Given the description of an element on the screen output the (x, y) to click on. 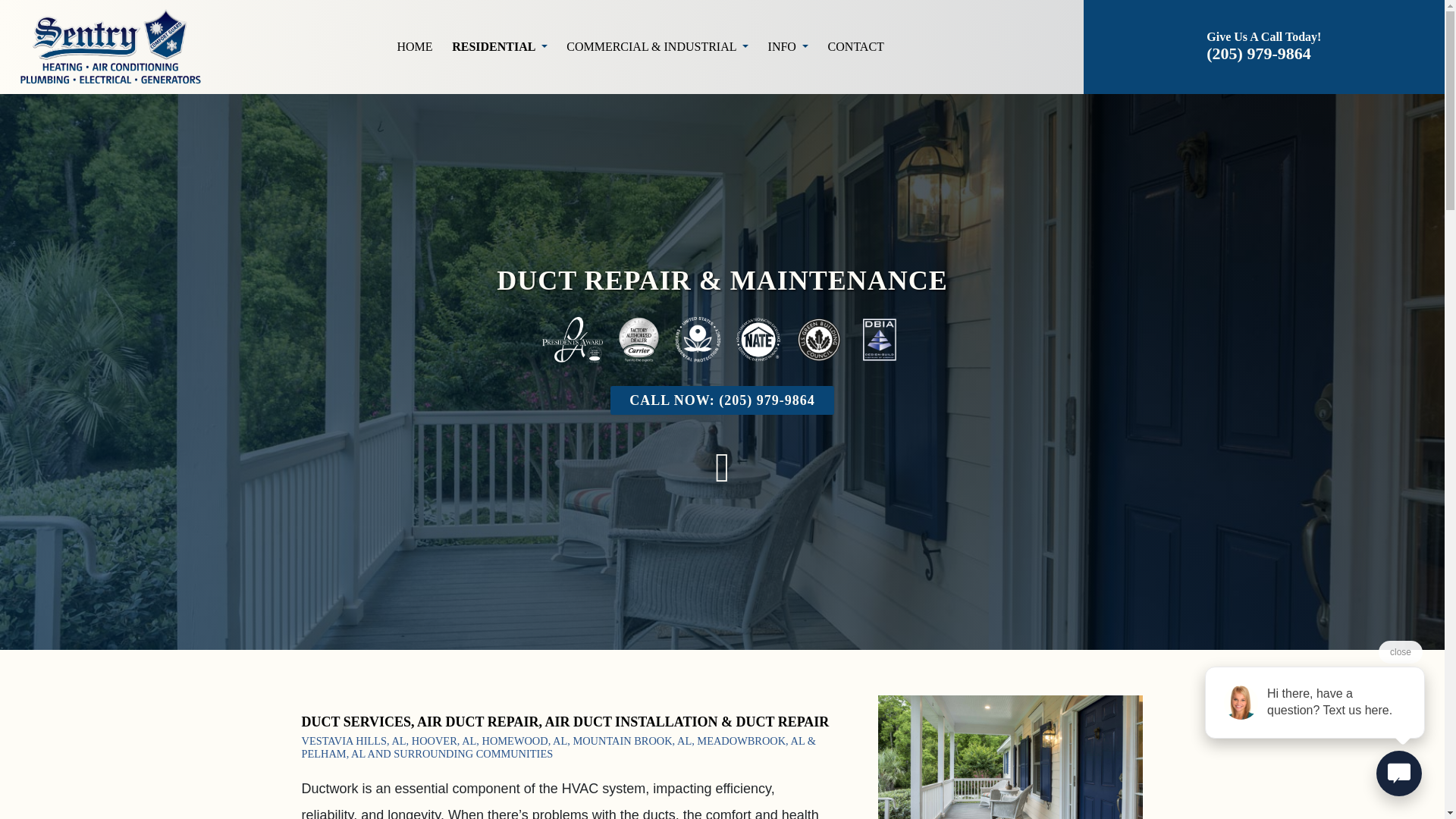
RESIDENTIAL (499, 46)
HOME (414, 46)
